Given the description of an element on the screen output the (x, y) to click on. 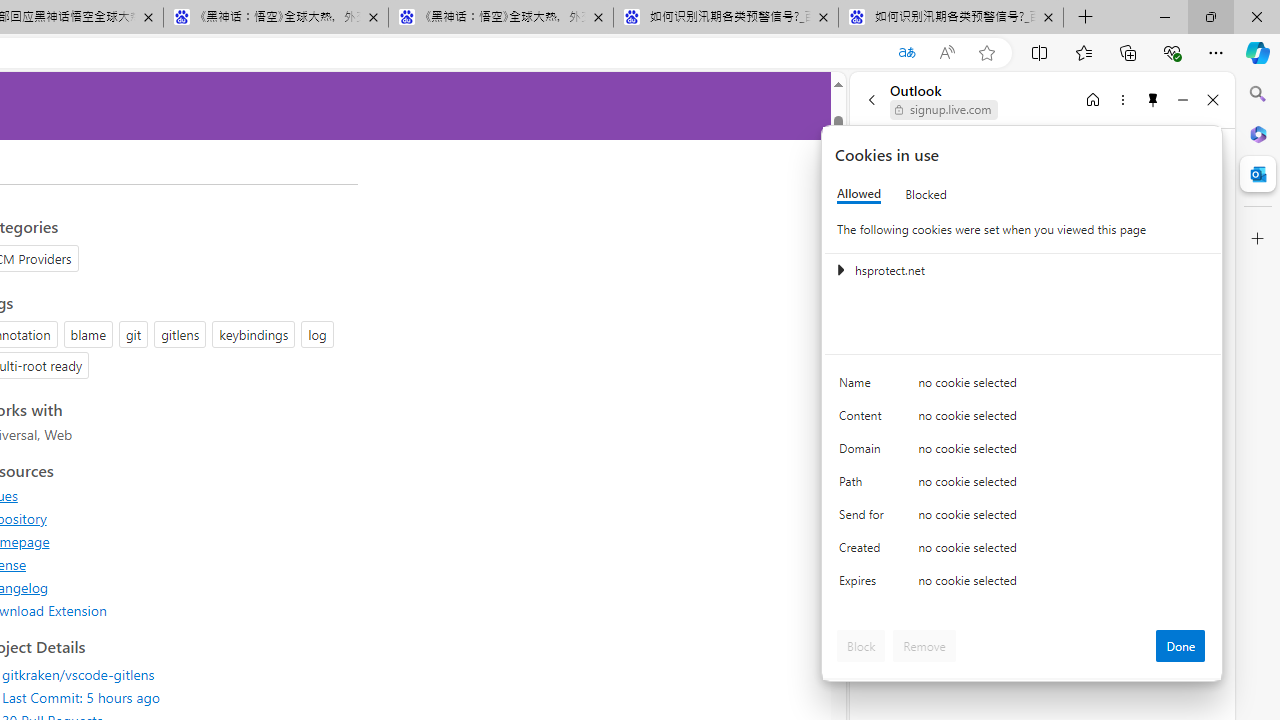
Path (864, 485)
Blocked (925, 193)
Domain (864, 452)
Done (1179, 645)
Class: c0153 c0157 c0154 (1023, 386)
Name (864, 387)
Block (861, 645)
Send for (864, 518)
Created (864, 552)
Content (864, 420)
Class: c0153 c0157 (1023, 584)
no cookie selected (1062, 585)
Remove (924, 645)
Allowed (859, 193)
Expires (864, 585)
